Given the description of an element on the screen output the (x, y) to click on. 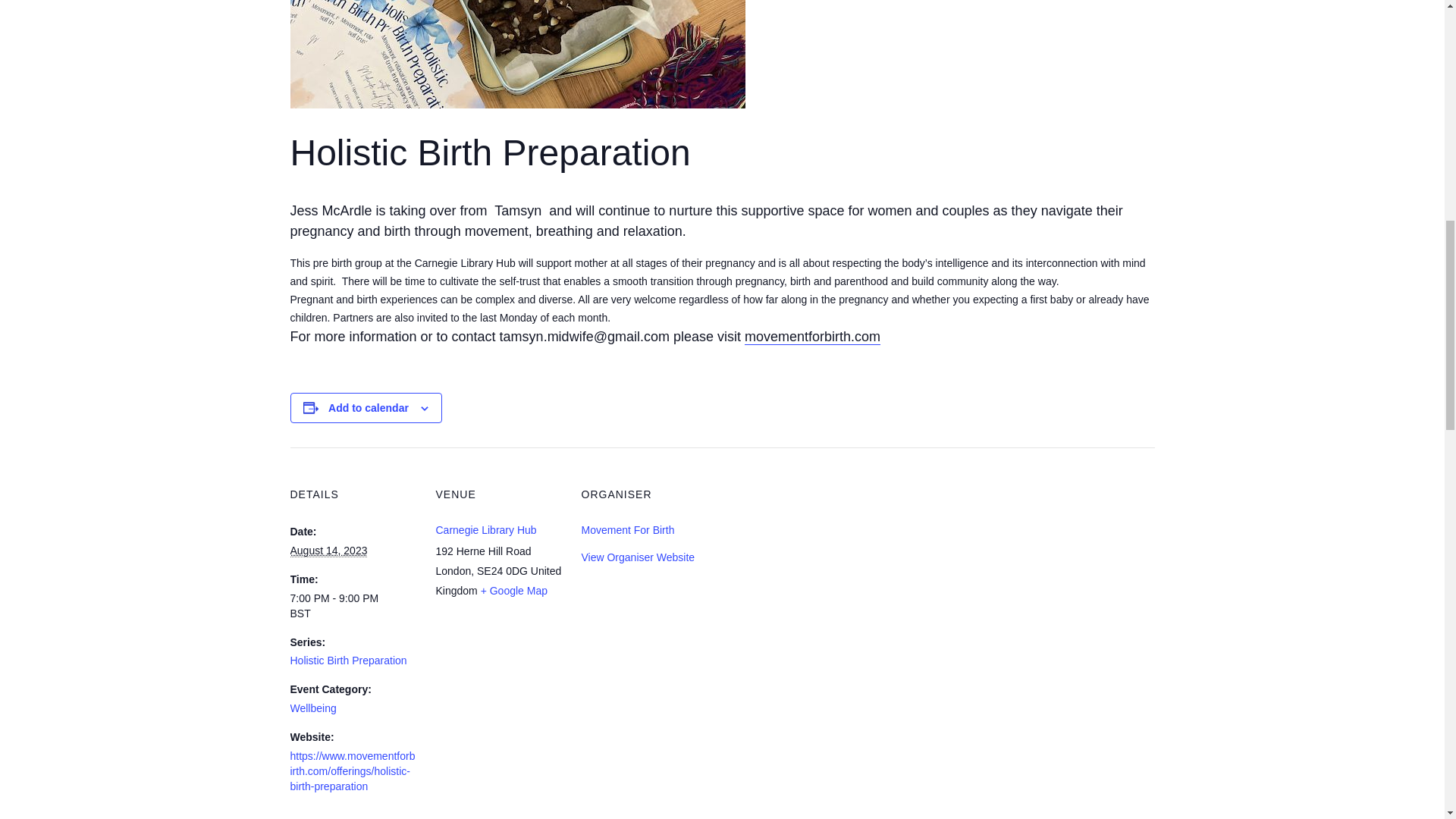
Click to view a Google Map (513, 590)
2023-08-14 (327, 550)
Movement For Birth (627, 530)
Add to calendar (369, 408)
movementforbirth.com (812, 336)
2023-08-14 (352, 606)
Holistic Birth Preparation (347, 660)
